Given the description of an element on the screen output the (x, y) to click on. 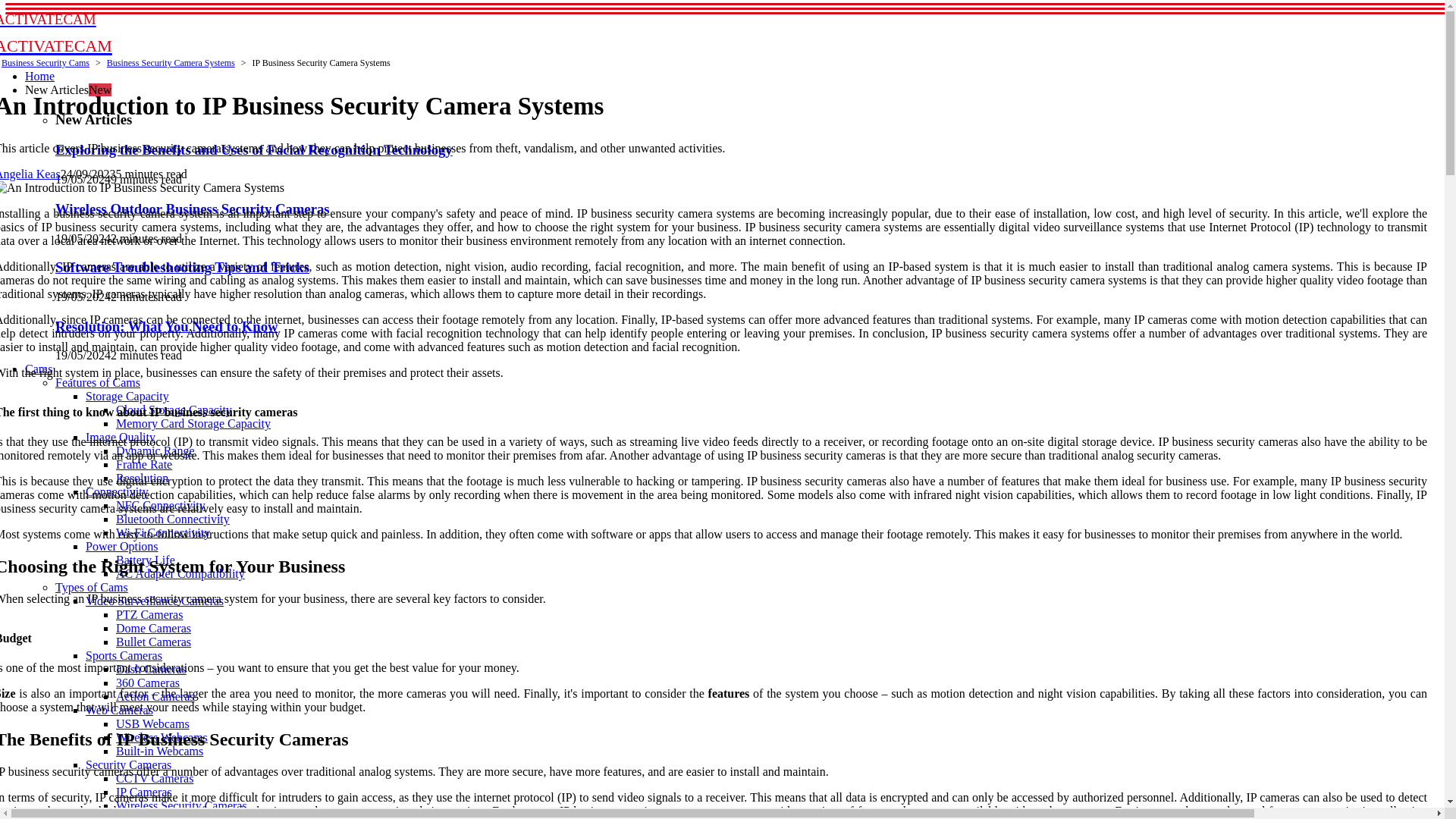
Dynamic Range (155, 450)
New ArticlesNew (68, 89)
AC Adapter Compatibility (180, 573)
Connectivity (116, 491)
Storage Capacity (126, 395)
Features of Cams (97, 382)
USB Webcams (152, 723)
Posts by Angelia Keas (30, 173)
Bullet Cameras (153, 641)
Resolution (142, 477)
PTZ Cameras (149, 614)
Types of Cams (91, 586)
Action Cameras (155, 696)
360 Cameras (147, 682)
Dash Cameras (151, 668)
